Given the description of an element on the screen output the (x, y) to click on. 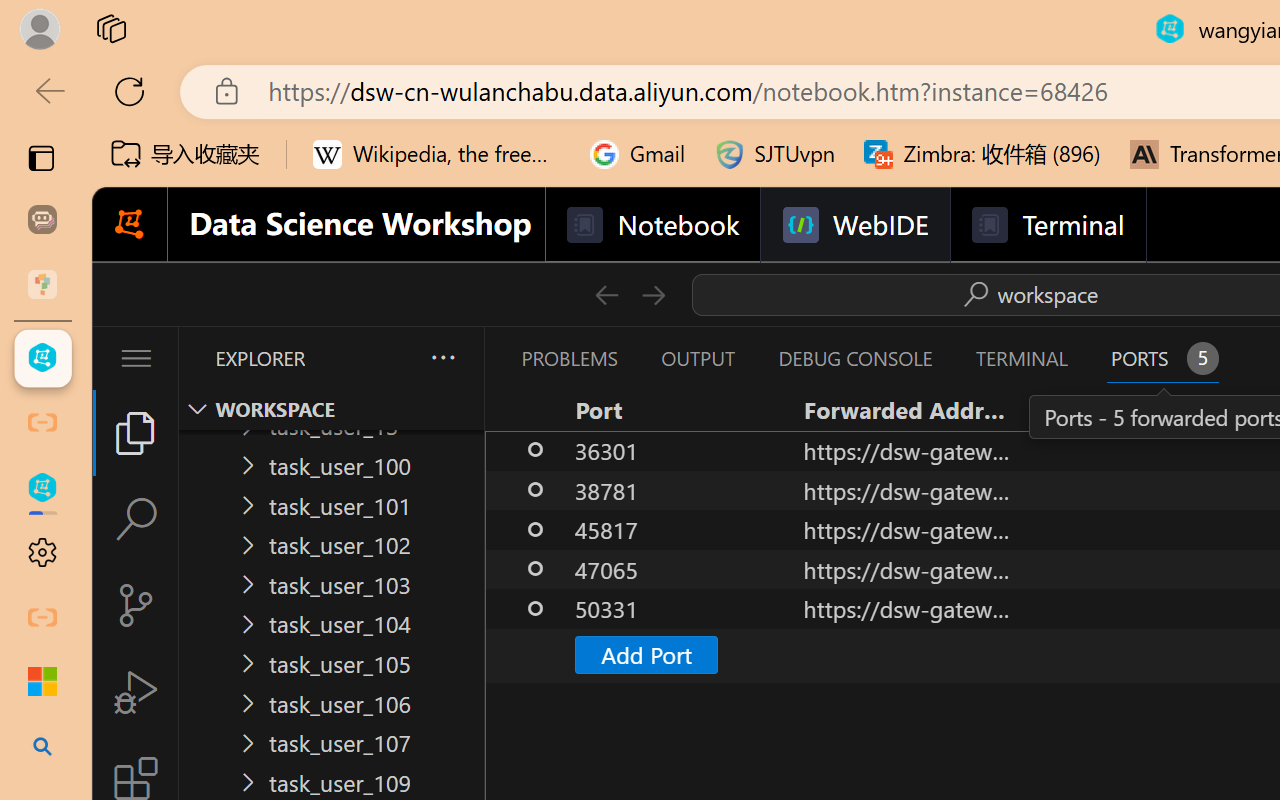
Explorer Section: workspace (331, 409)
Go Forward (Alt+RightArrow) (652, 294)
Search (Ctrl+Shift+F) (135, 519)
wangyian_dsw - DSW (42, 357)
Problems (Ctrl+Shift+M) (567, 358)
Application Menu (135, 358)
Debug Console (Ctrl+Shift+Y) (854, 358)
